Given the description of an element on the screen output the (x, y) to click on. 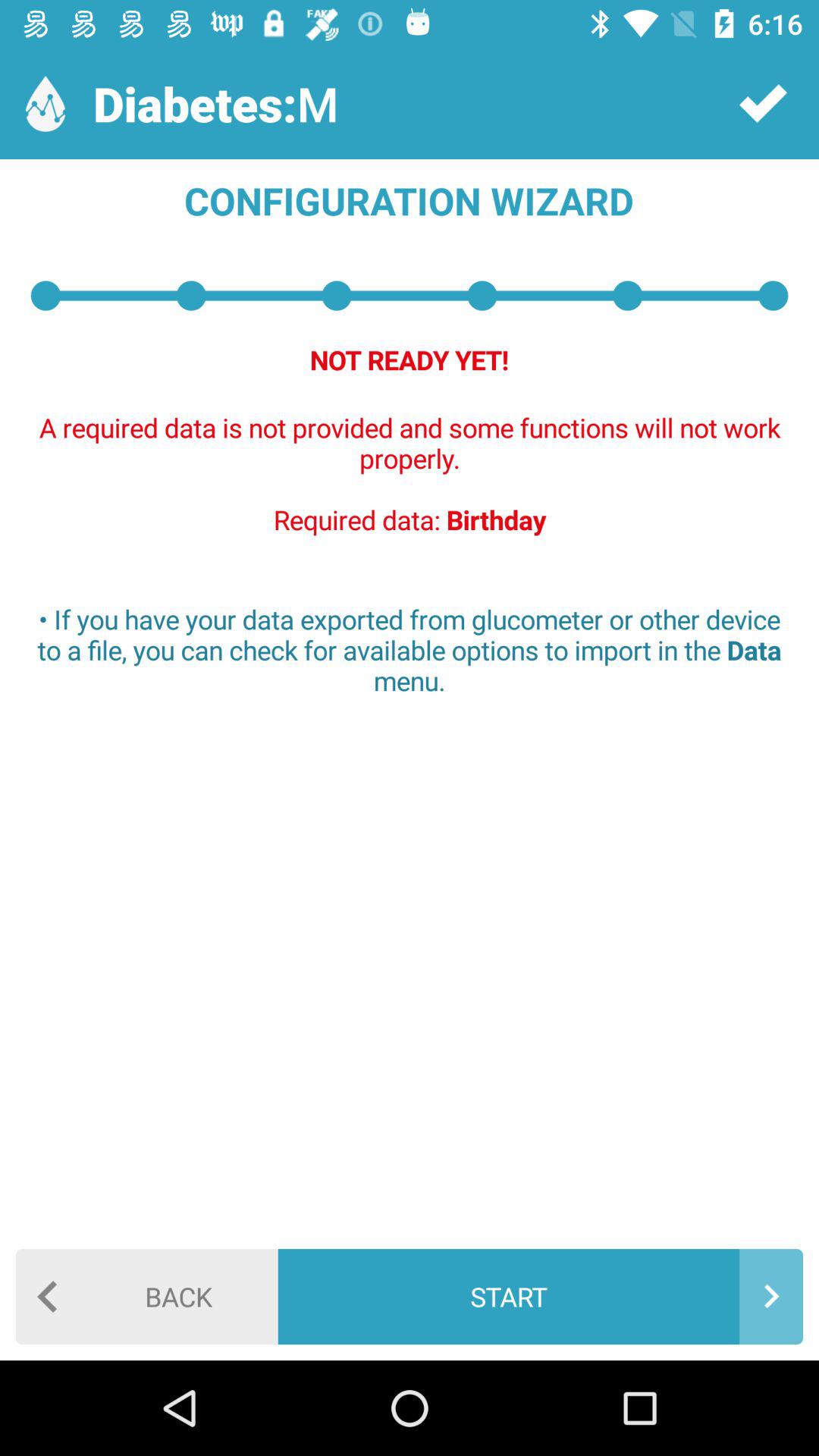
choose the icon next to the start icon (146, 1296)
